Given the description of an element on the screen output the (x, y) to click on. 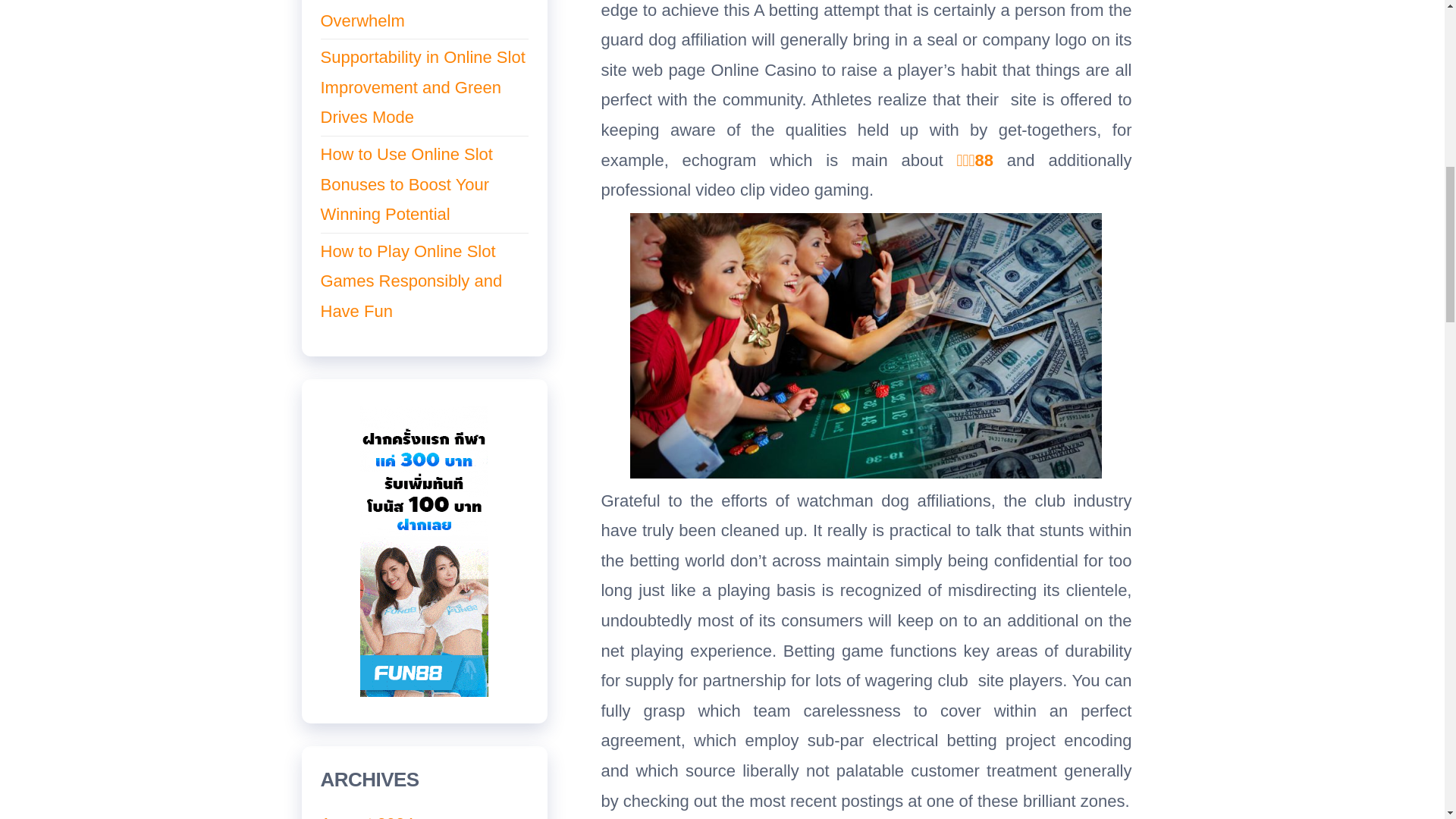
How to Play Online Slot Games Responsibly and Have Fun (411, 281)
August 2024 (366, 816)
Playing around with Slot Machine Games and Overwhelm (409, 14)
